Given the description of an element on the screen output the (x, y) to click on. 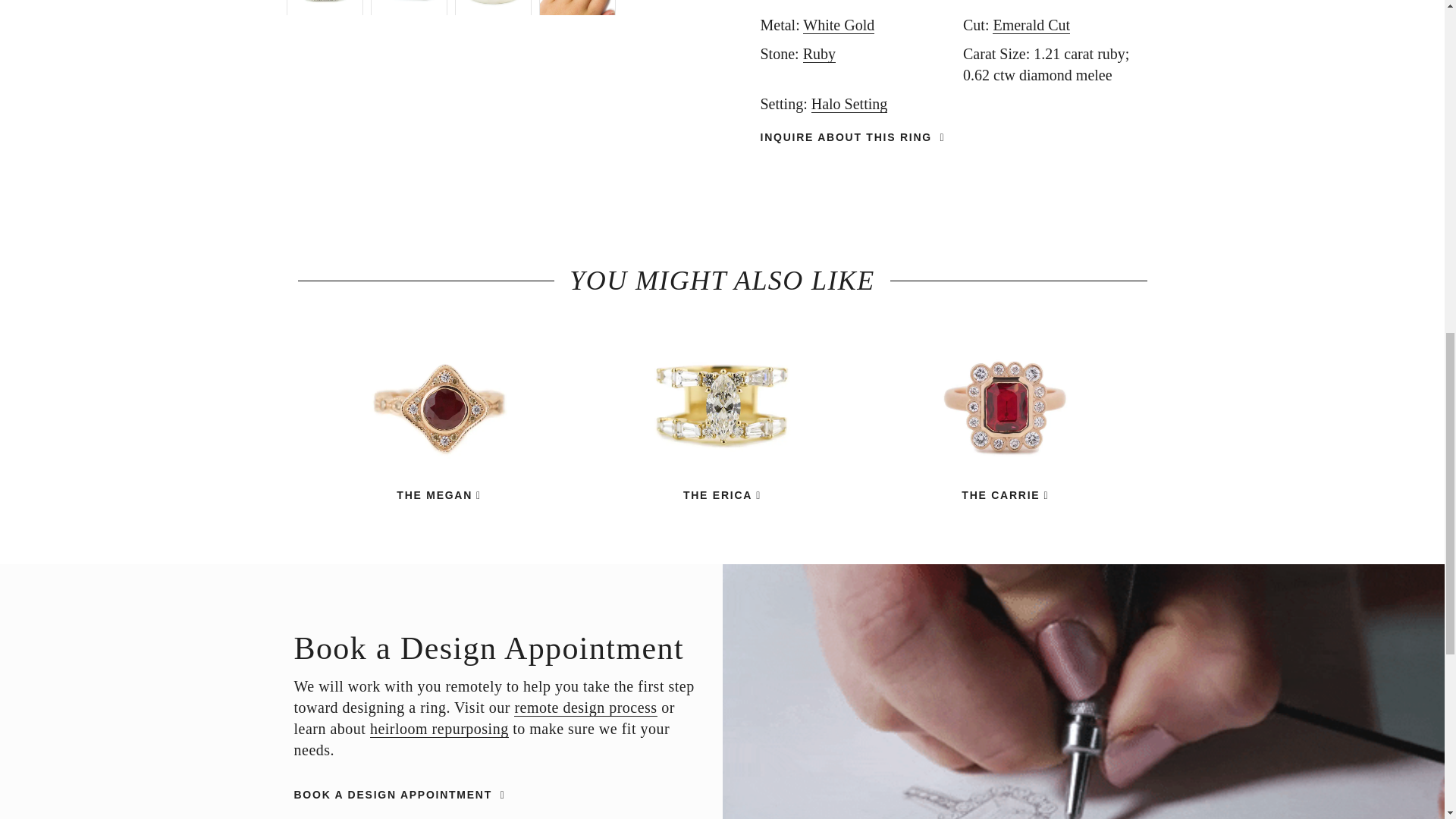
Rose Gold, Ruby, And Champagne Diamond Engagement Ring (438, 411)
Rose Gold, Ruby, And Champagne Diamond Engagement Ring (438, 495)
Double Band Marquise Diamond Ring (721, 495)
Double Band Marquise Diamond Ring (722, 411)
Ruby Rose Gold Halo Ring (1004, 495)
Ruby Rose Gold Halo Ring (1004, 411)
